Given the description of an element on the screen output the (x, y) to click on. 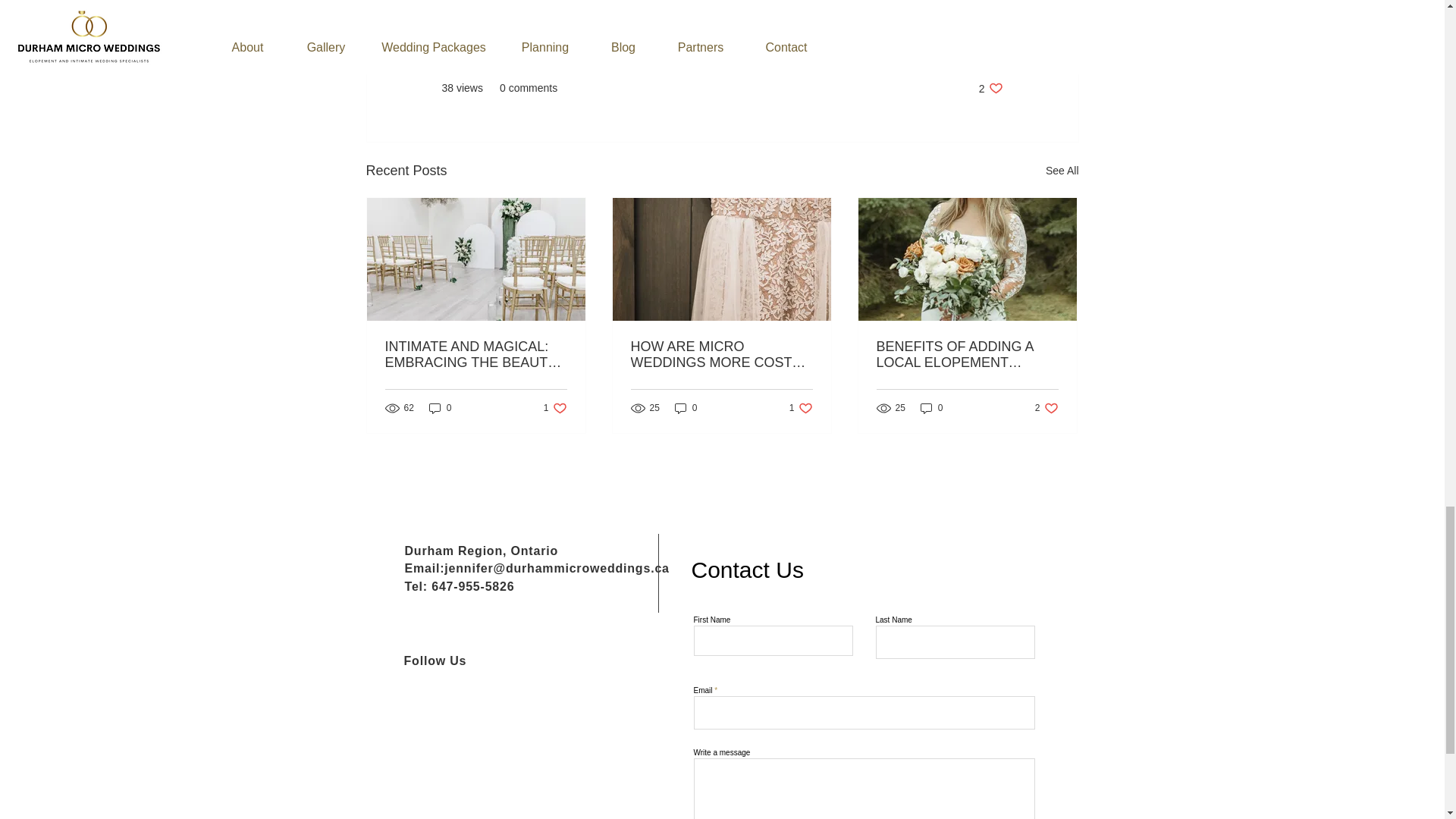
See All (1061, 170)
INTIMATE AND MAGICAL: EMBRACING THE BEAUTY OF MICRO WEDDINGS (990, 88)
